Given the description of an element on the screen output the (x, y) to click on. 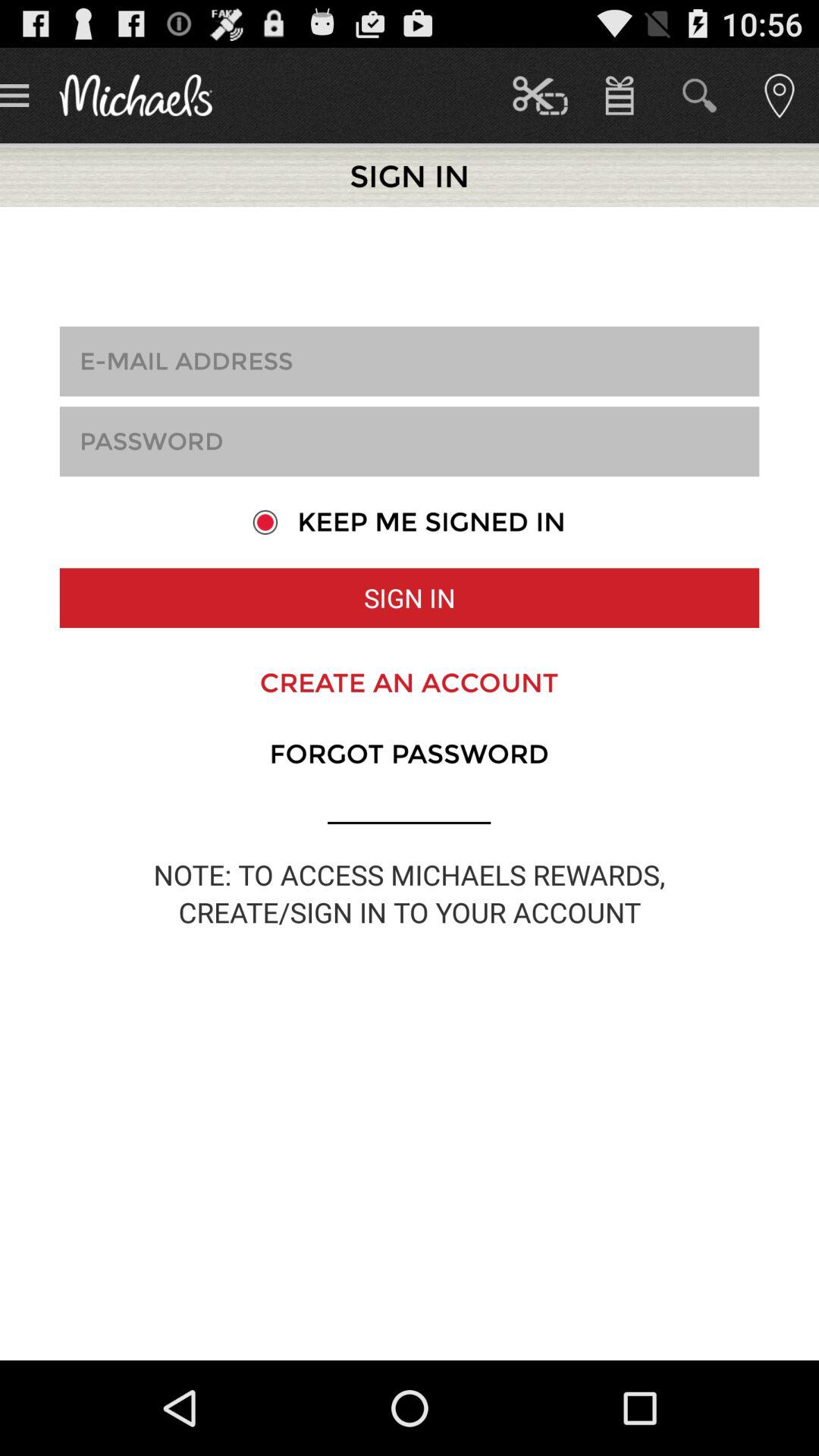
select the item above the sign in item (409, 522)
